Given the description of an element on the screen output the (x, y) to click on. 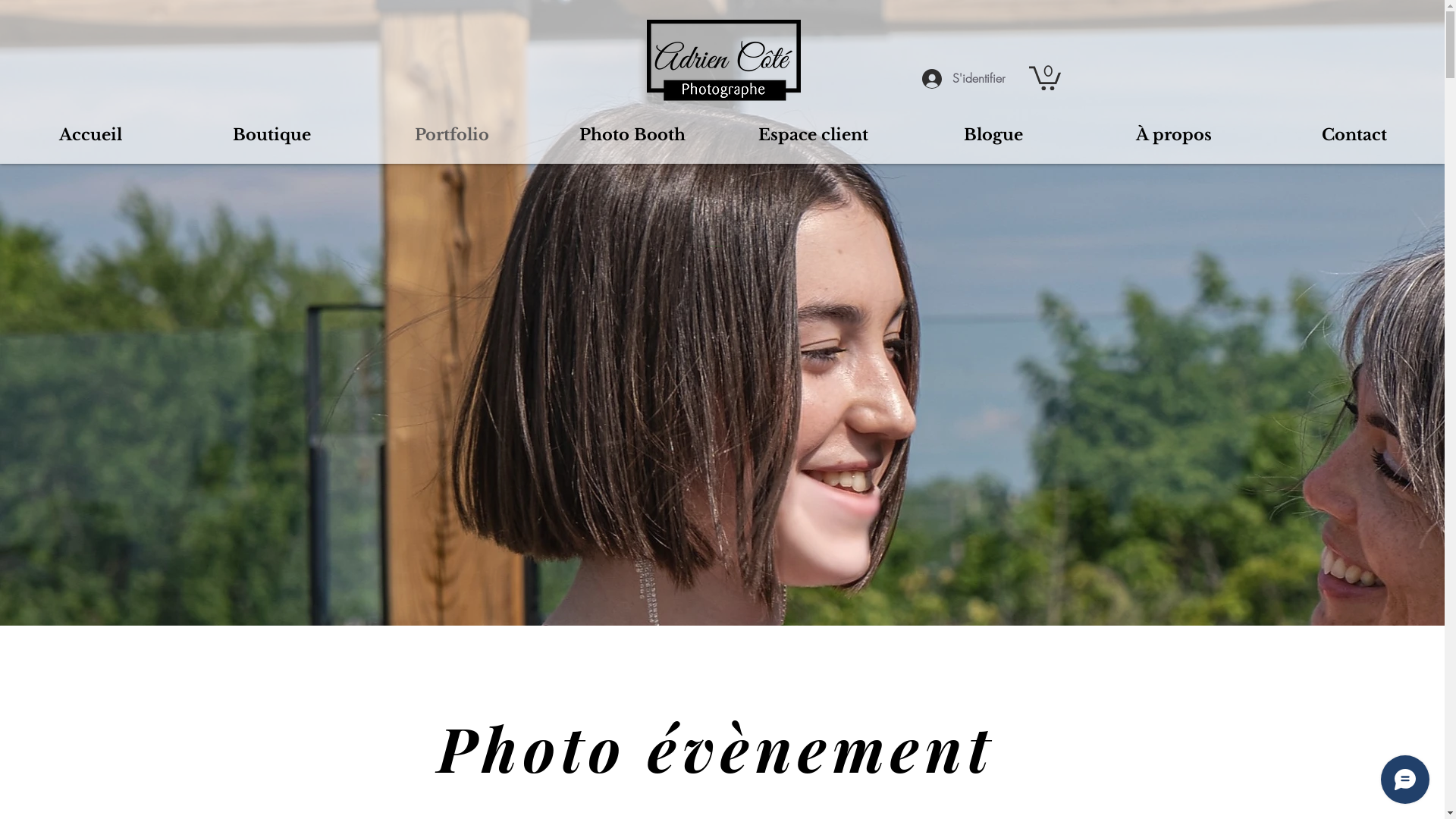
Accueil Element type: text (90, 135)
Photo Booth Element type: text (632, 135)
Boutique Element type: text (271, 135)
S'identifier Element type: text (963, 77)
Espace client Element type: text (812, 135)
Contact Element type: text (1354, 135)
Blogue Element type: text (993, 135)
Portfolio Element type: text (451, 135)
0 Element type: text (1044, 76)
